Given the description of an element on the screen output the (x, y) to click on. 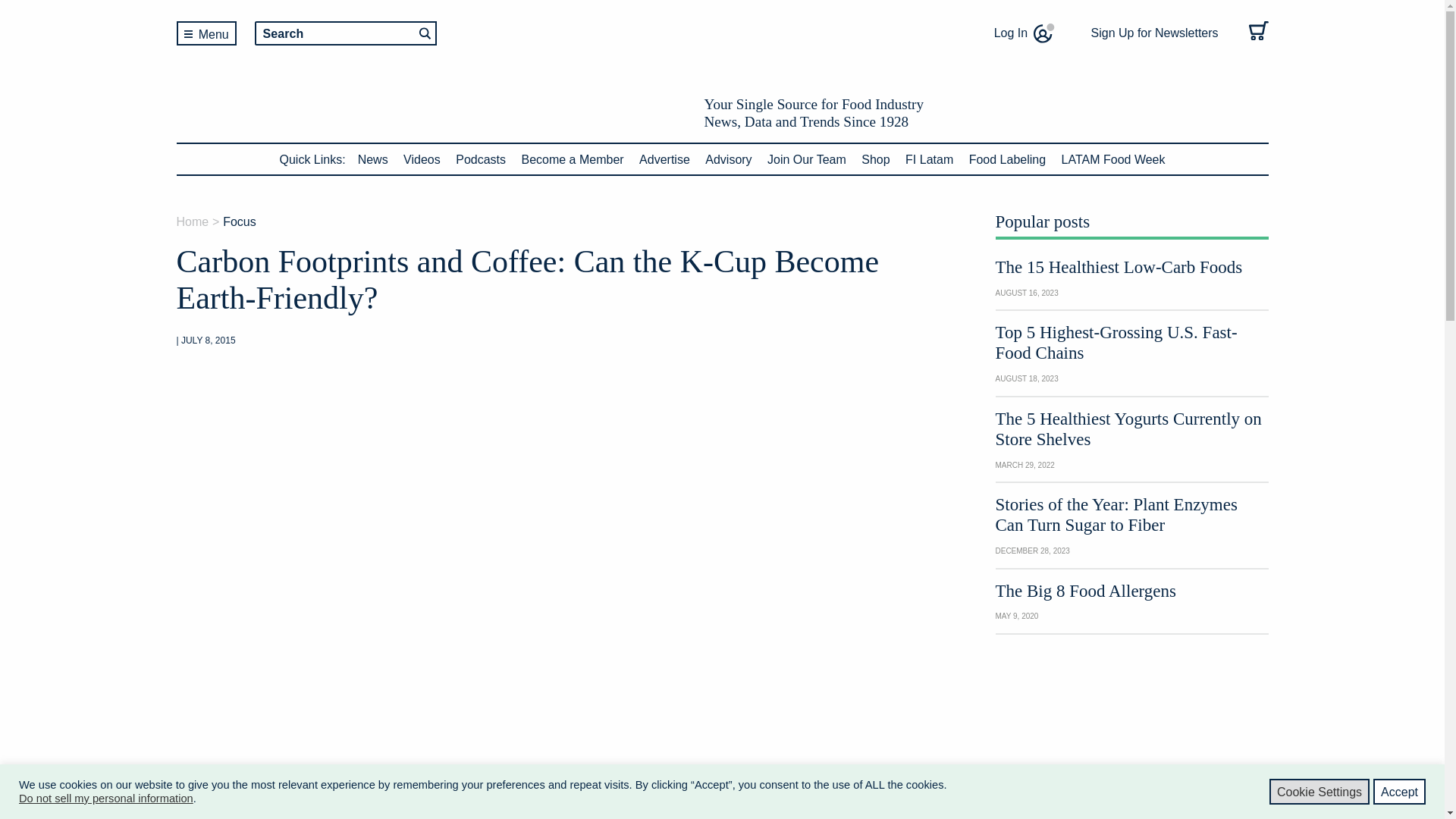
Menu (205, 33)
